Given the description of an element on the screen output the (x, y) to click on. 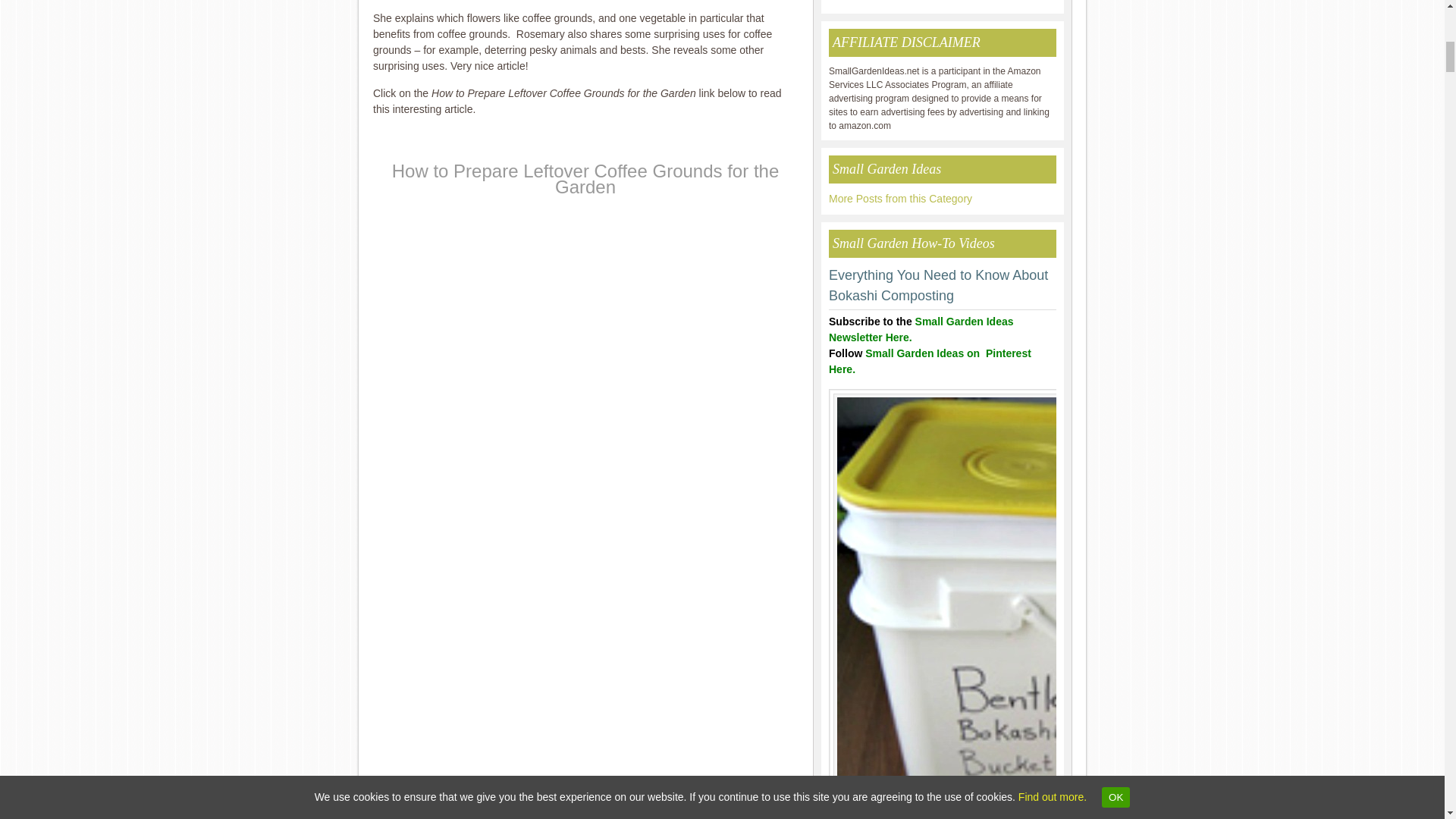
Small Garden Ideas Newsletter Here. (920, 329)
More Posts from this Category (900, 198)
Everything You Need to Know About Bokashi Composting (938, 285)
Small Garden Ideas on  Pinterest Here. (929, 361)
How to Prepare Leftover Coffee Grounds for the Garden (584, 178)
Pinterest (929, 361)
How to Prepare Leftover Coffee Grounds for the Garden (584, 178)
